Given the description of an element on the screen output the (x, y) to click on. 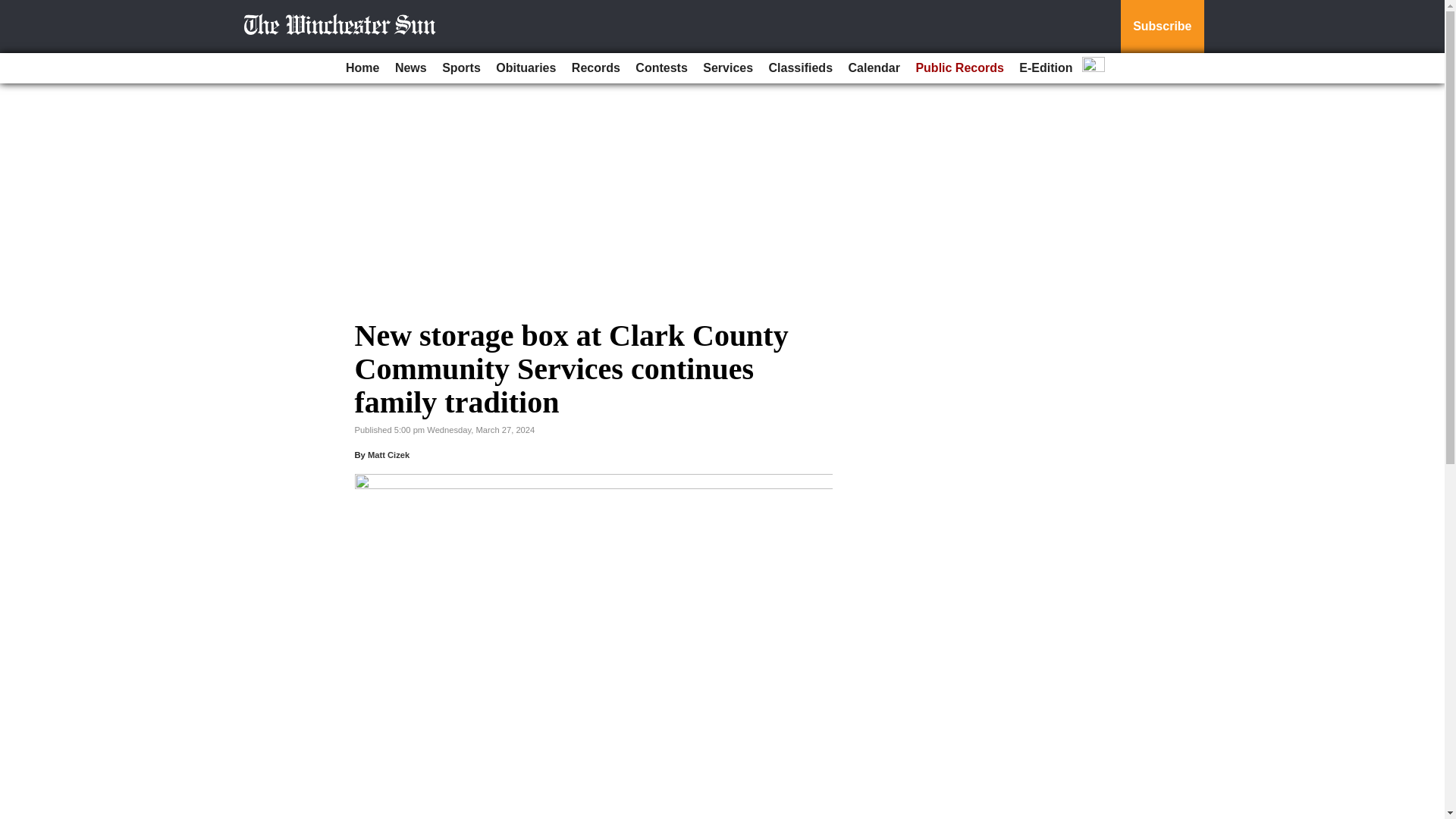
Classifieds (800, 68)
Contests (660, 68)
Subscribe (1162, 26)
Calendar (873, 68)
Sports (460, 68)
Go (13, 9)
Obituaries (525, 68)
Services (727, 68)
Home (362, 68)
Matt Cizek (388, 454)
